Given the description of an element on the screen output the (x, y) to click on. 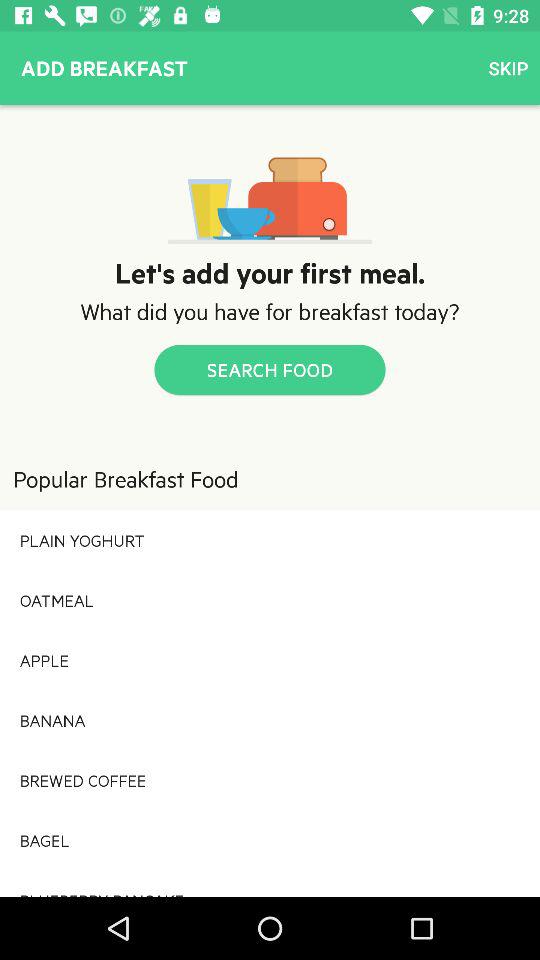
launch the icon below plain yoghurt item (270, 600)
